Given the description of an element on the screen output the (x, y) to click on. 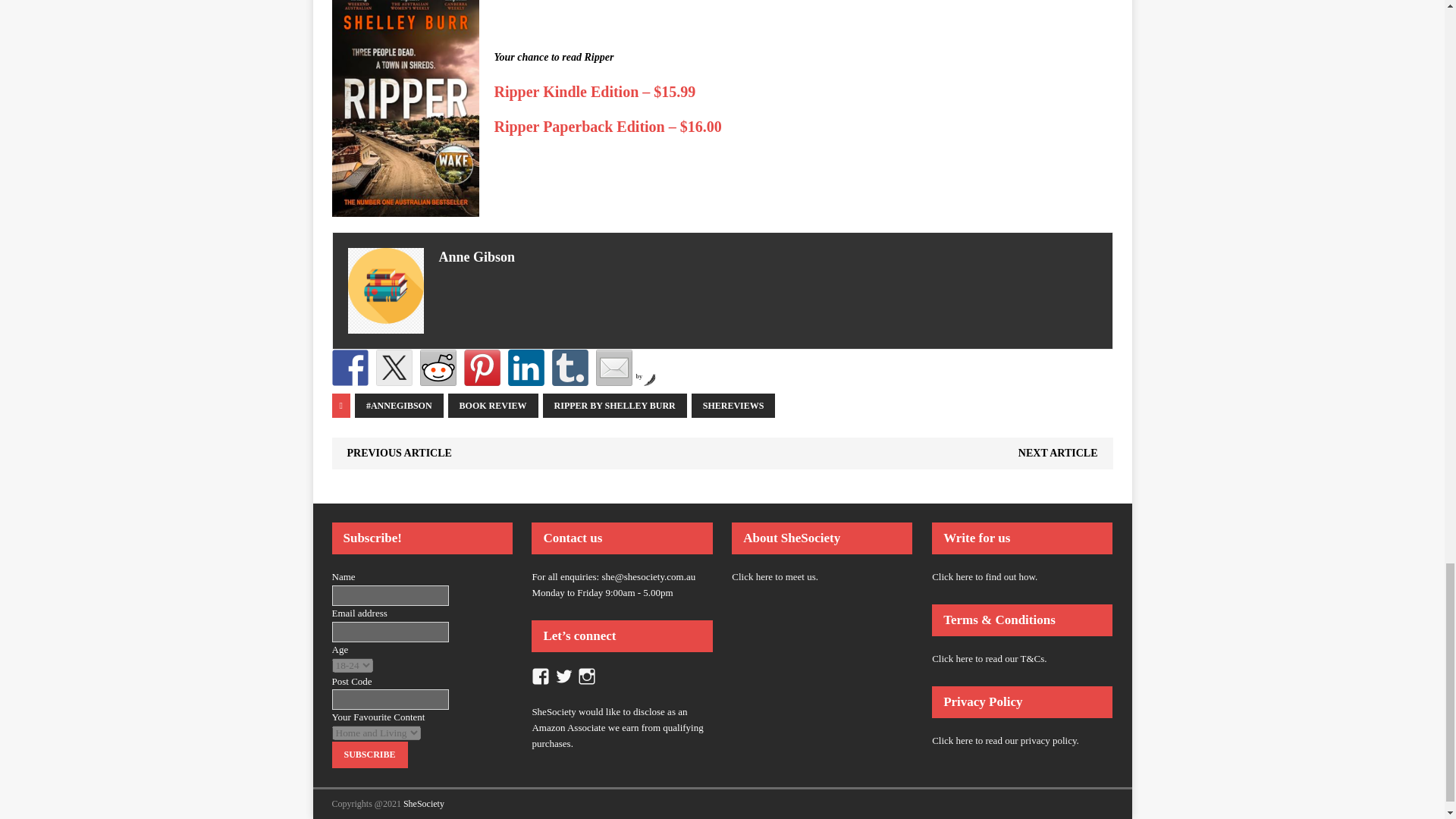
Pin it with Pinterest (482, 367)
Share on Linkedin (526, 367)
Subscribe (369, 755)
Share on Twitter (393, 367)
Share on tumblr (569, 367)
Share on Facebook (349, 367)
Share by email (613, 367)
Share on Reddit (438, 367)
